Given the description of an element on the screen output the (x, y) to click on. 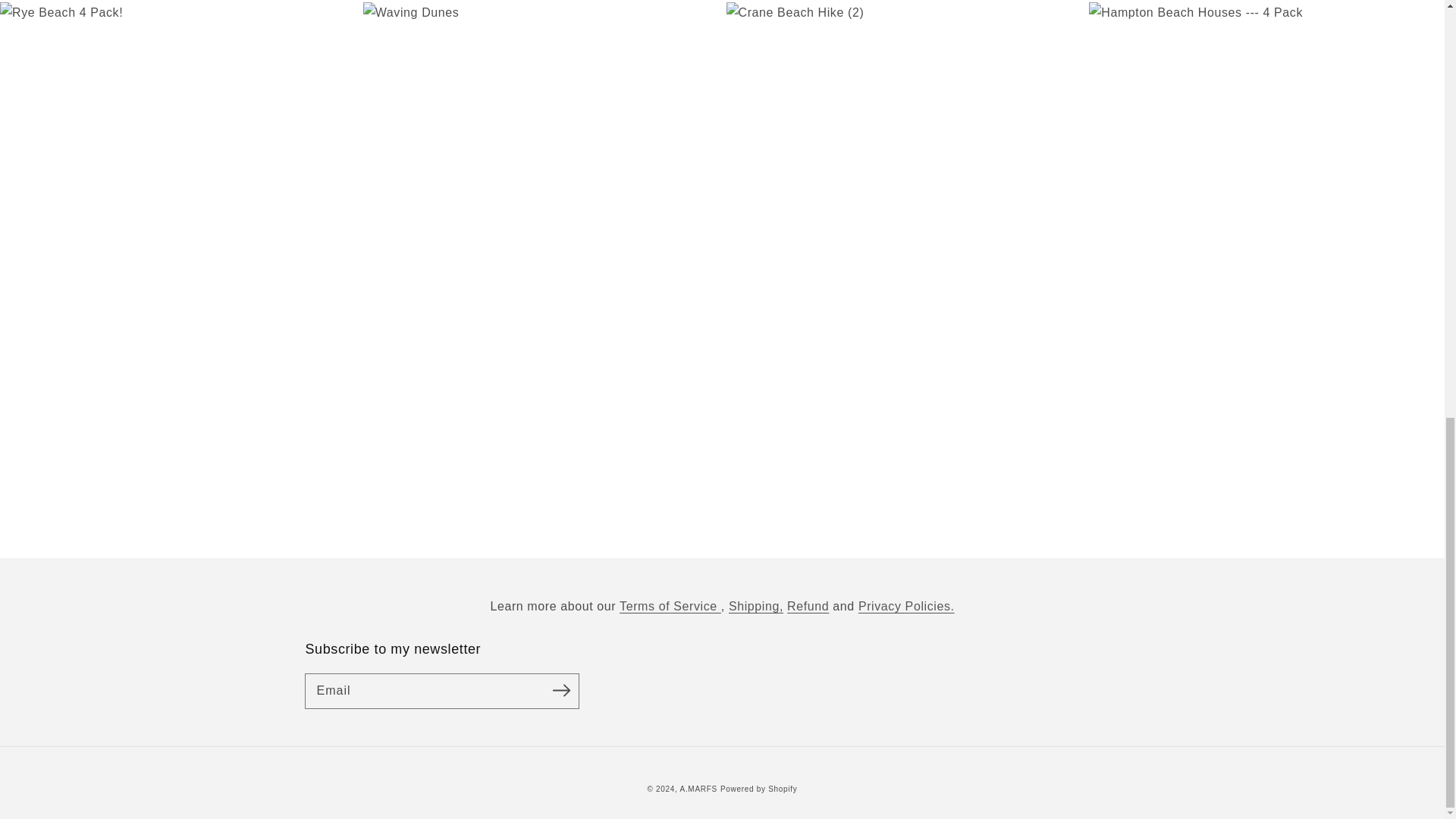
Privacy Policy (907, 605)
Terms of Service (670, 605)
Shipping Policy (756, 605)
Refund Policy (807, 605)
